Given the description of an element on the screen output the (x, y) to click on. 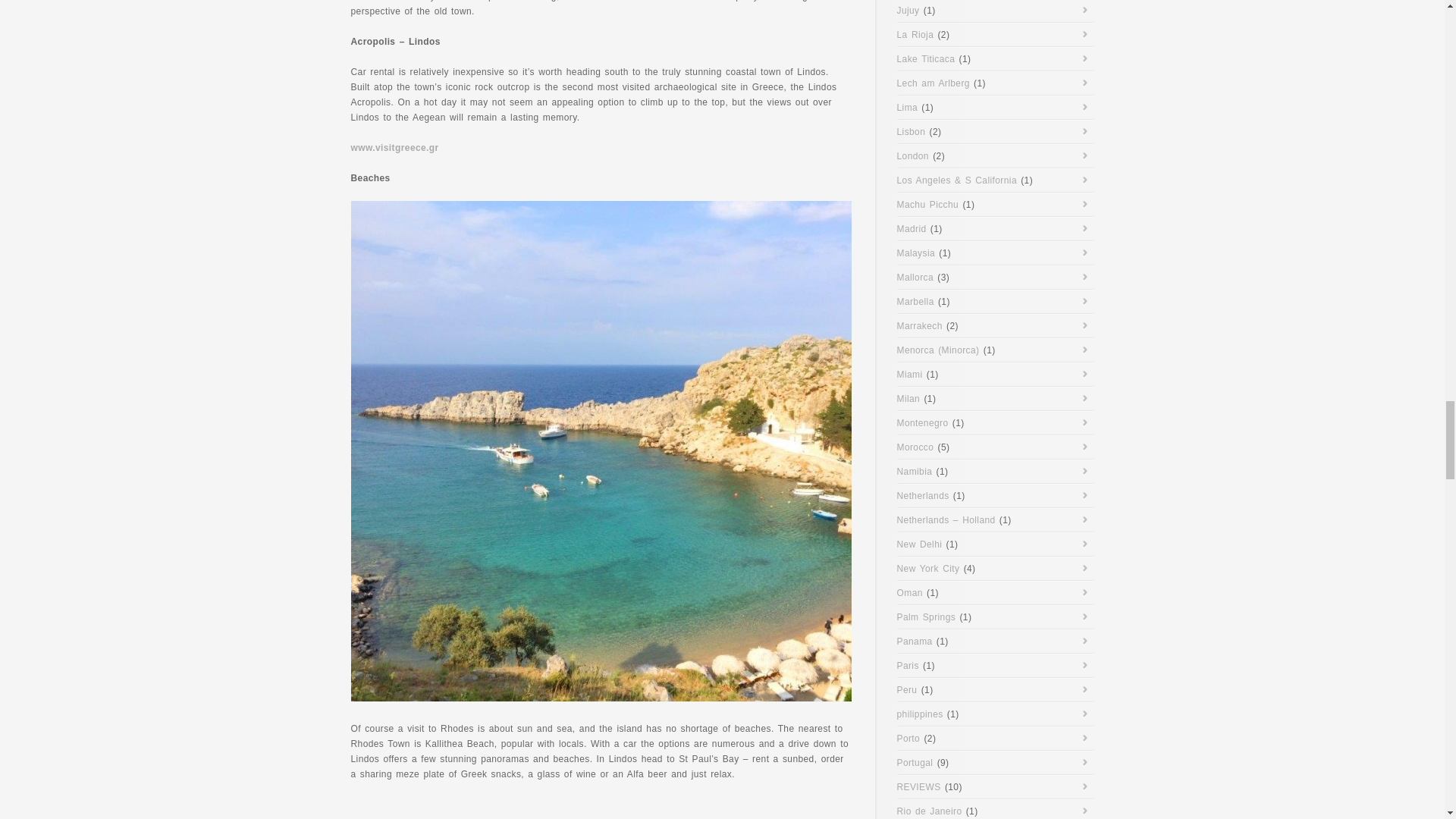
www.visitgreece.gr (394, 147)
